Given the description of an element on the screen output the (x, y) to click on. 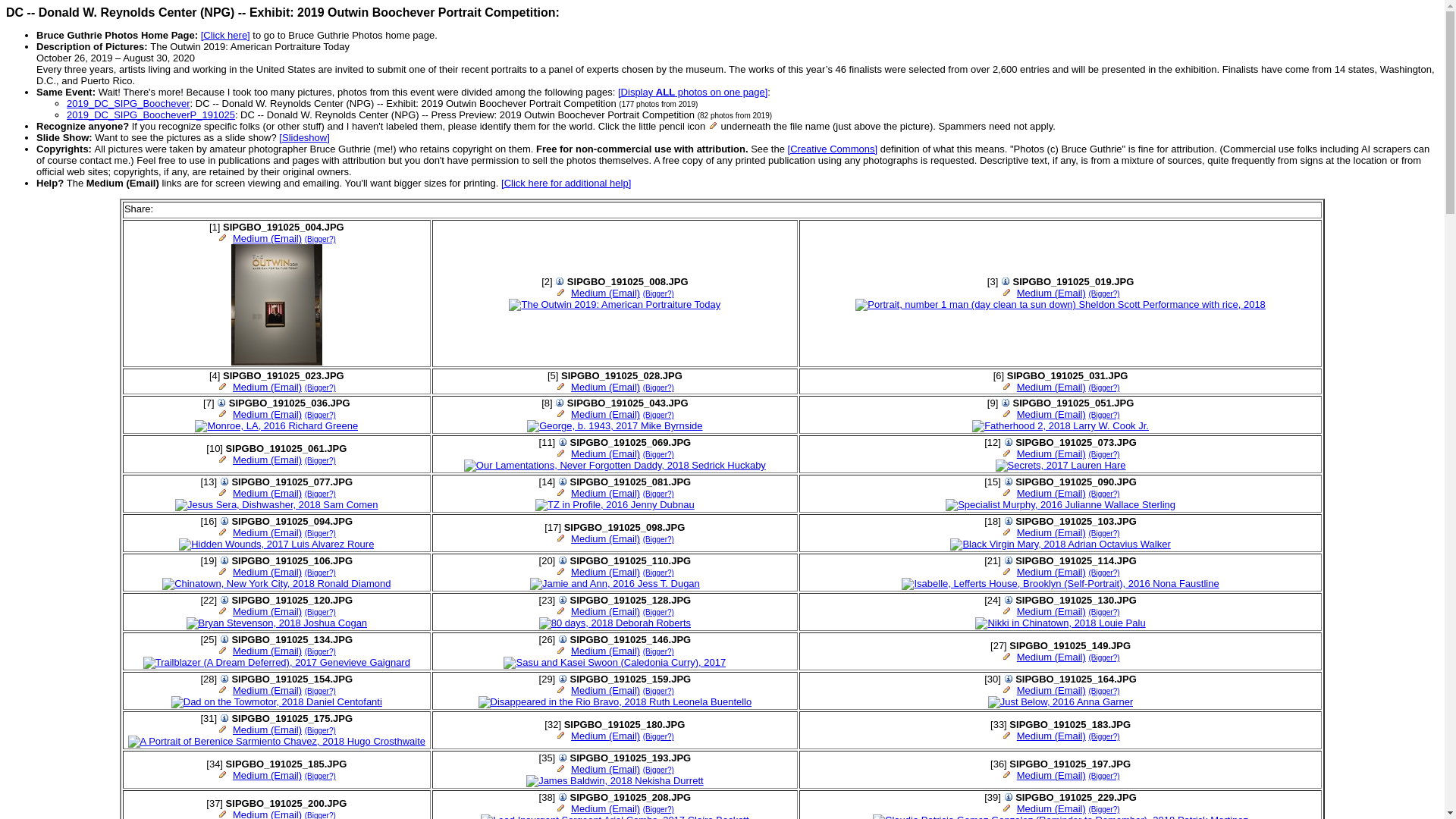
Facebook (162, 209)
The Outwin 2019: American Portraiture Today (614, 304)
Twitter (177, 209)
Digg (193, 209)
